Given the description of an element on the screen output the (x, y) to click on. 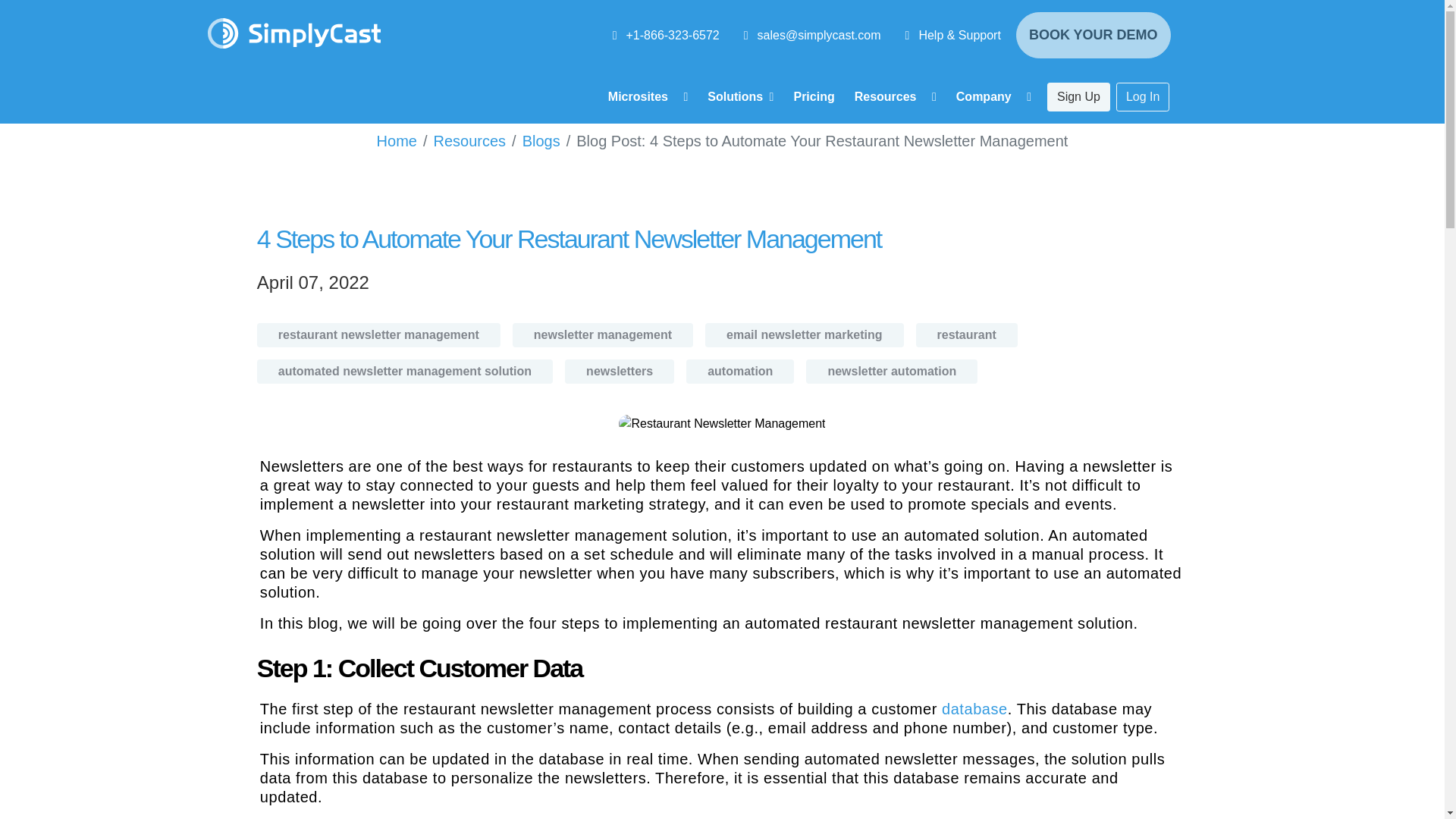
BOOK YOUR DEMO (1093, 35)
Microsites (647, 96)
Solutions (740, 96)
